Given the description of an element on the screen output the (x, y) to click on. 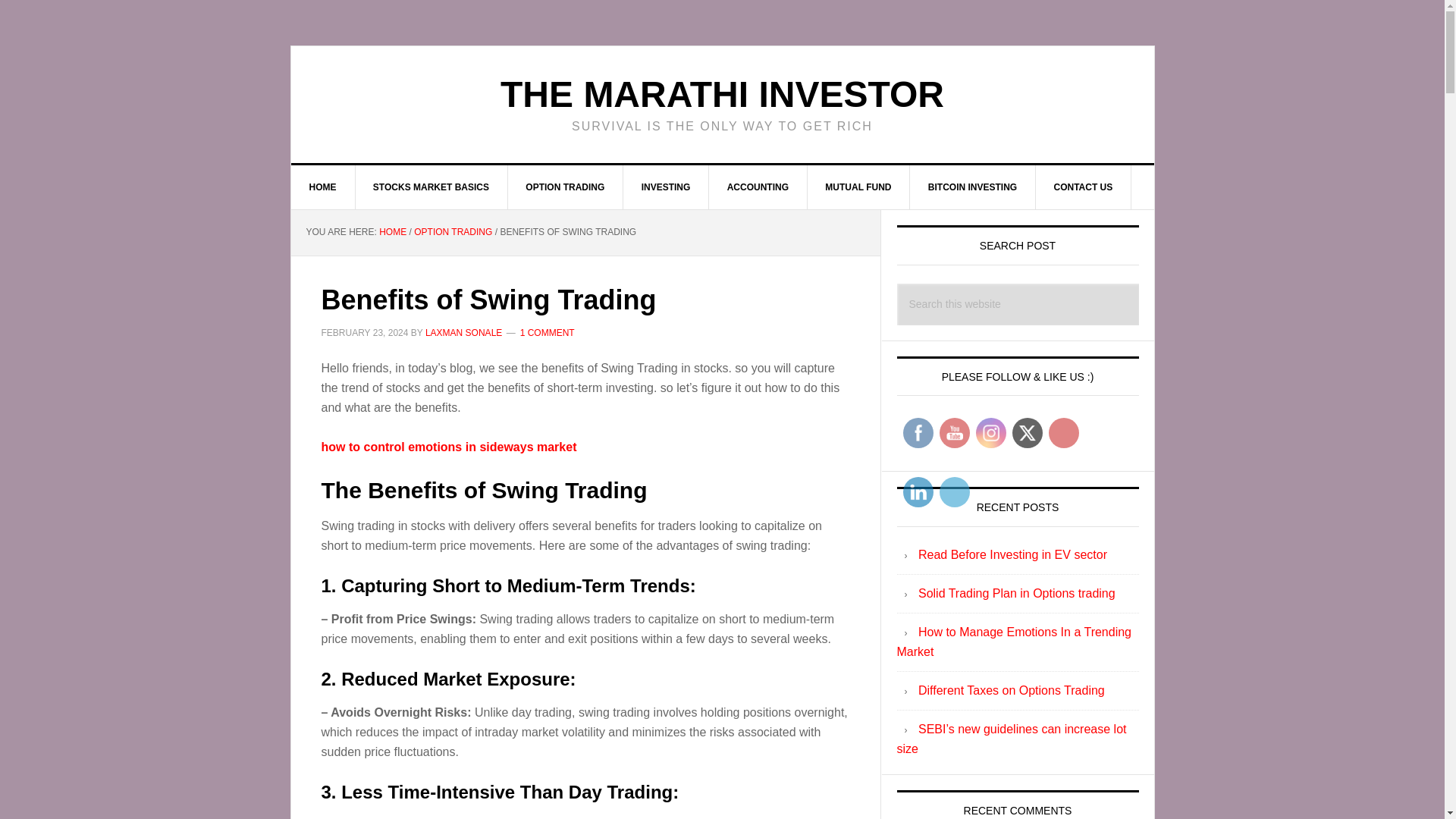
OPTION TRADING (564, 187)
STOCKS MARKET BASICS (431, 187)
LinkedIn (918, 492)
MUTUAL FUND (858, 187)
ACCOUNTING (758, 187)
CONTACT US (1083, 187)
BITCOIN INVESTING (972, 187)
YouTube (954, 433)
OPTION TRADING (452, 231)
